Given the description of an element on the screen output the (x, y) to click on. 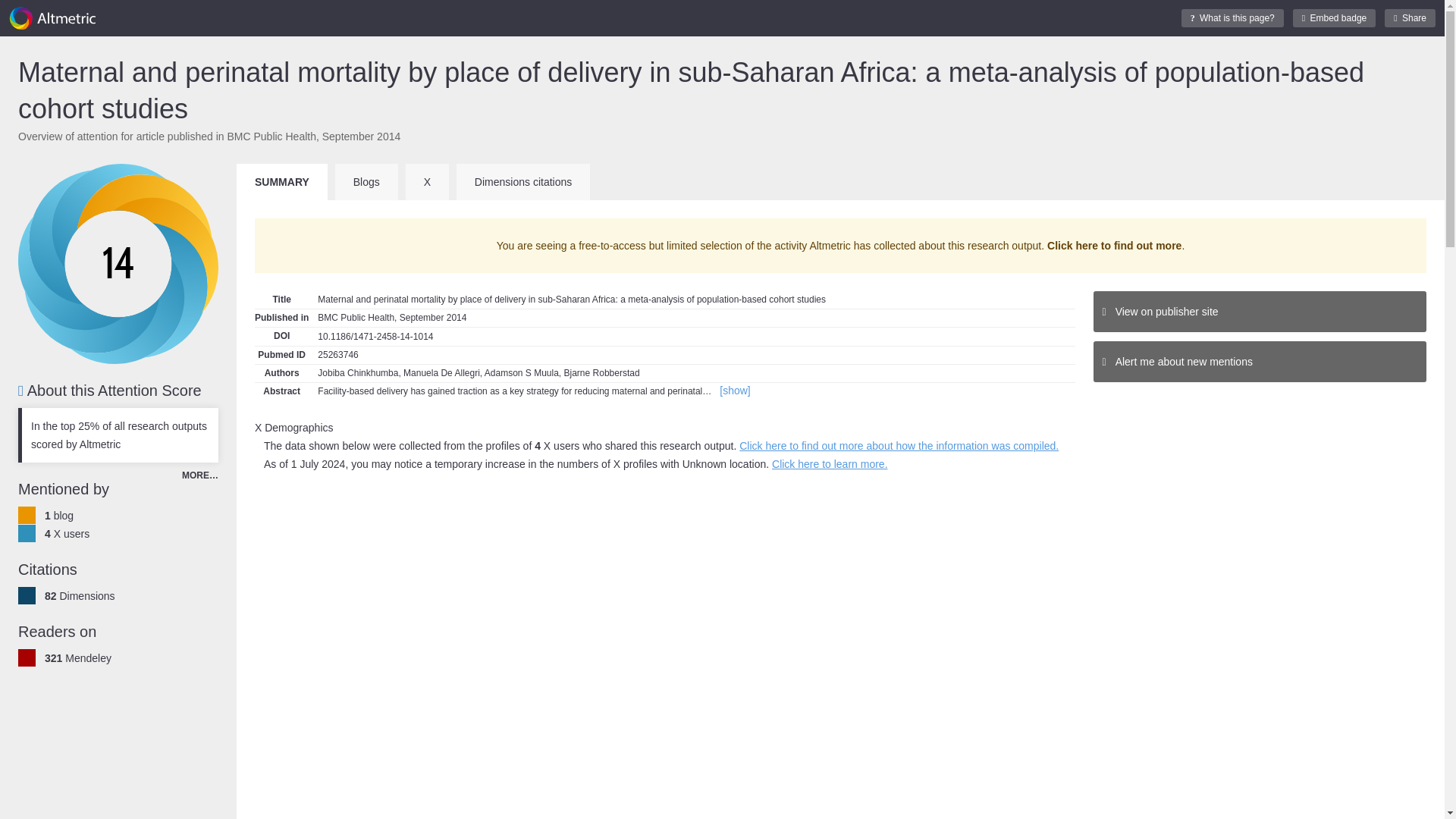
4 X users (66, 533)
View on publisher site (1259, 311)
Click here to learn more. (829, 463)
SUMMARY (281, 181)
Dimensions citations (523, 181)
Altmetric (52, 18)
1 blog (59, 515)
What is this page? (1232, 18)
X (427, 181)
Embed badge (1333, 18)
25263746 (344, 354)
Alert me about new mentions (1259, 361)
Blogs (365, 181)
